Given the description of an element on the screen output the (x, y) to click on. 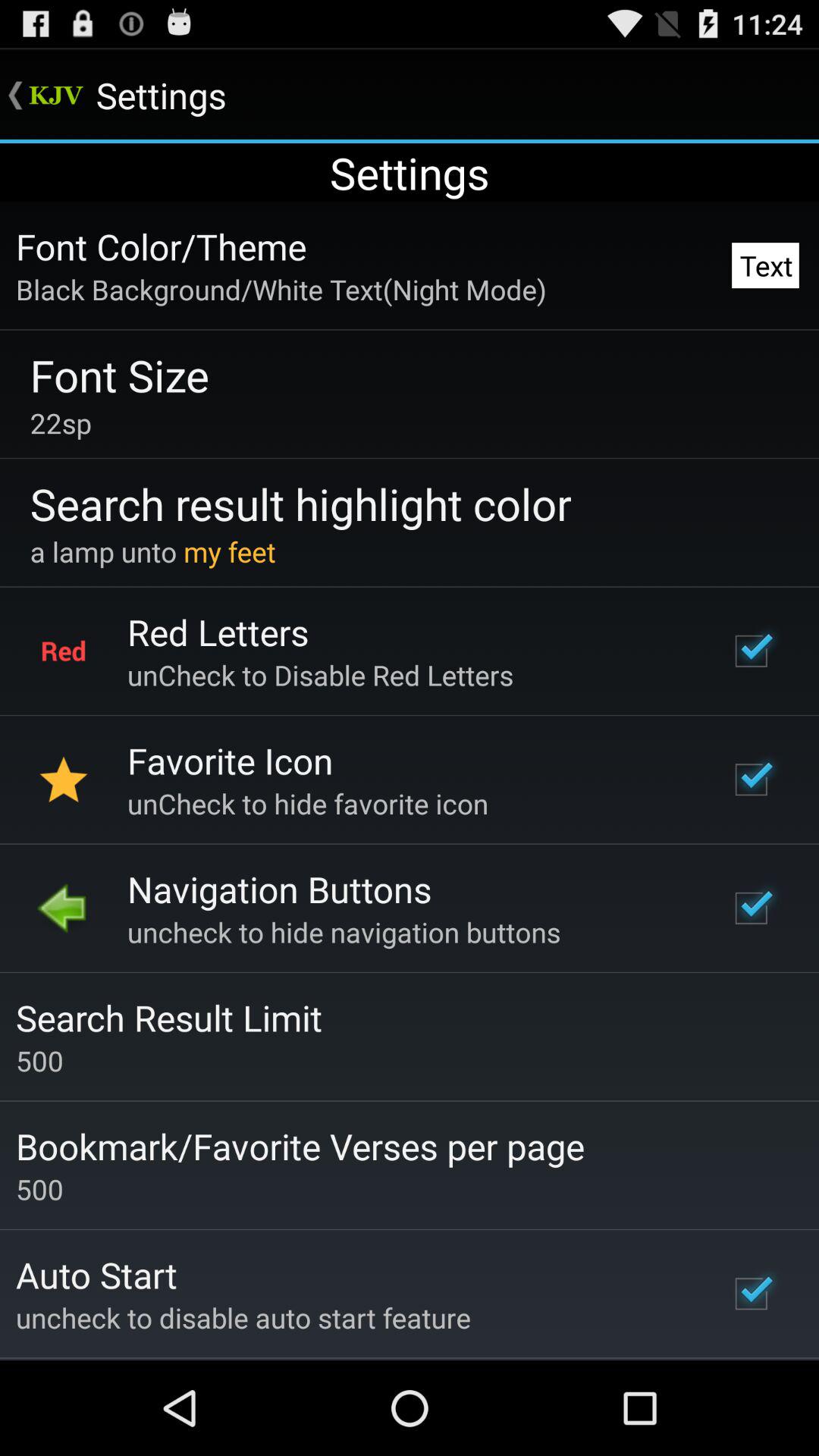
jump until font color/theme icon (160, 246)
